Given the description of an element on the screen output the (x, y) to click on. 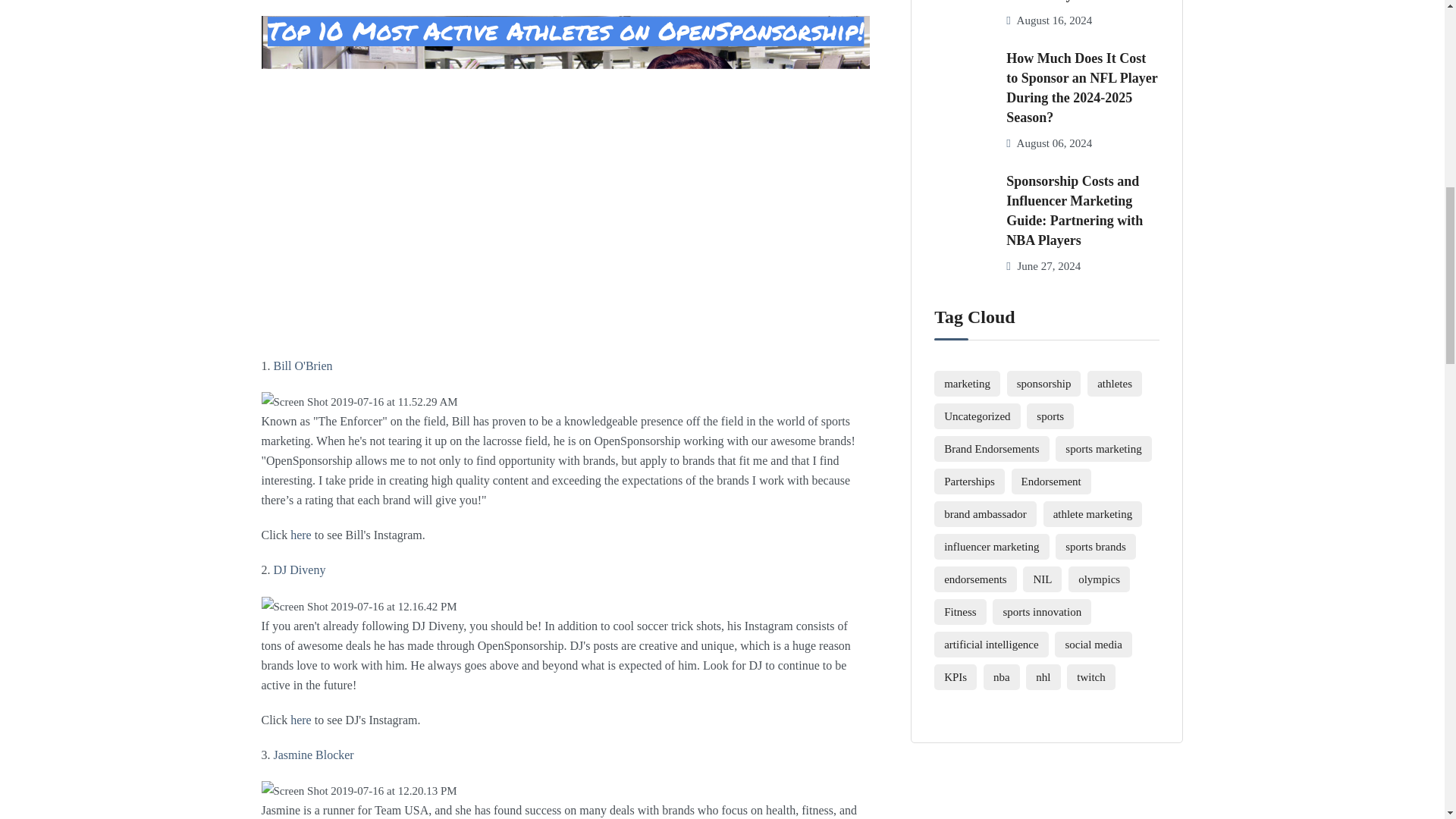
Bill O'Brien (302, 365)
marketing (967, 383)
here (300, 534)
Jasmine Blocker (313, 754)
DJ Diveny (298, 569)
here (300, 719)
How An Athlete Can Represent Your Lifestyle and Beauty Brand (1082, 2)
